Given the description of an element on the screen output the (x, y) to click on. 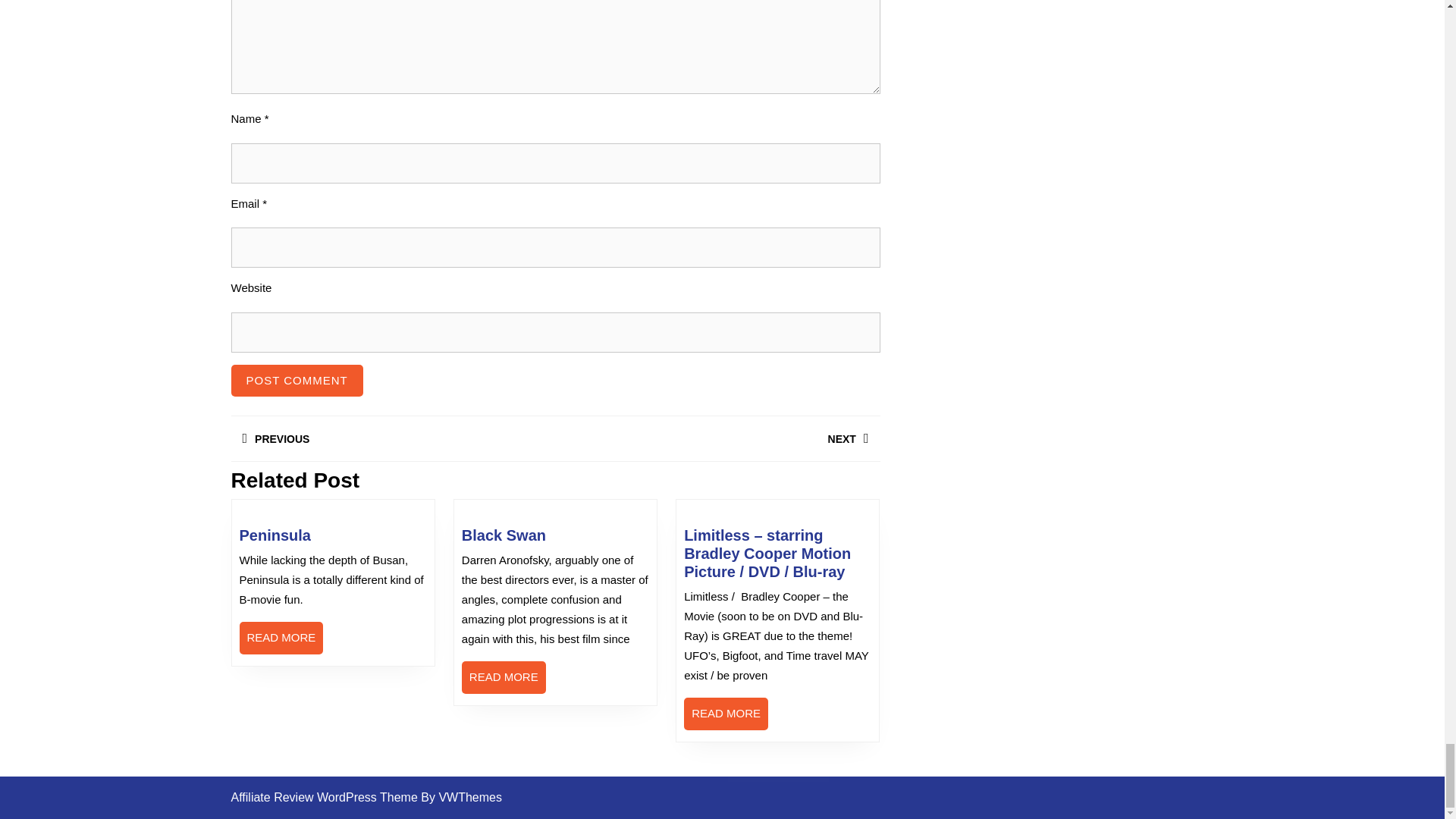
Post Comment (716, 438)
Post Comment (296, 380)
